Given the description of an element on the screen output the (x, y) to click on. 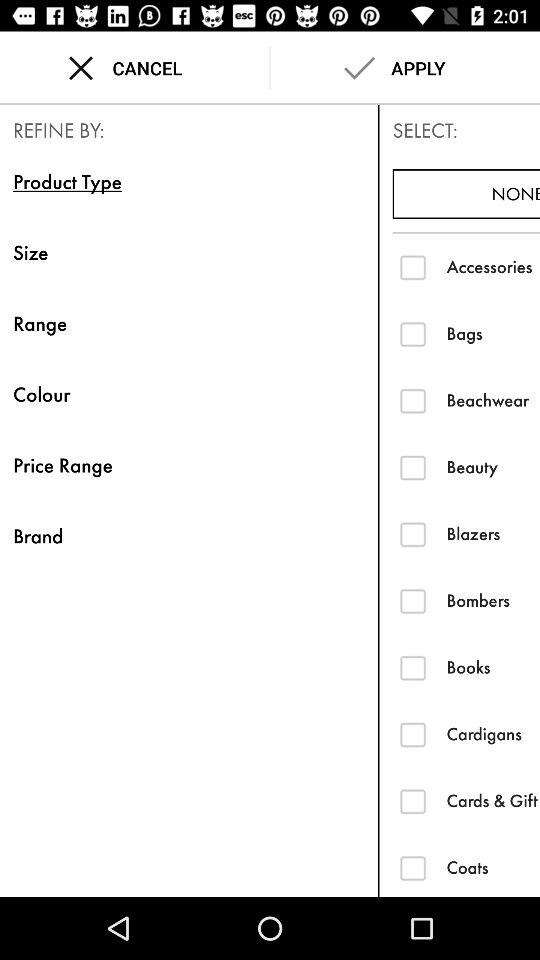
check box option (412, 333)
